Given the description of an element on the screen output the (x, y) to click on. 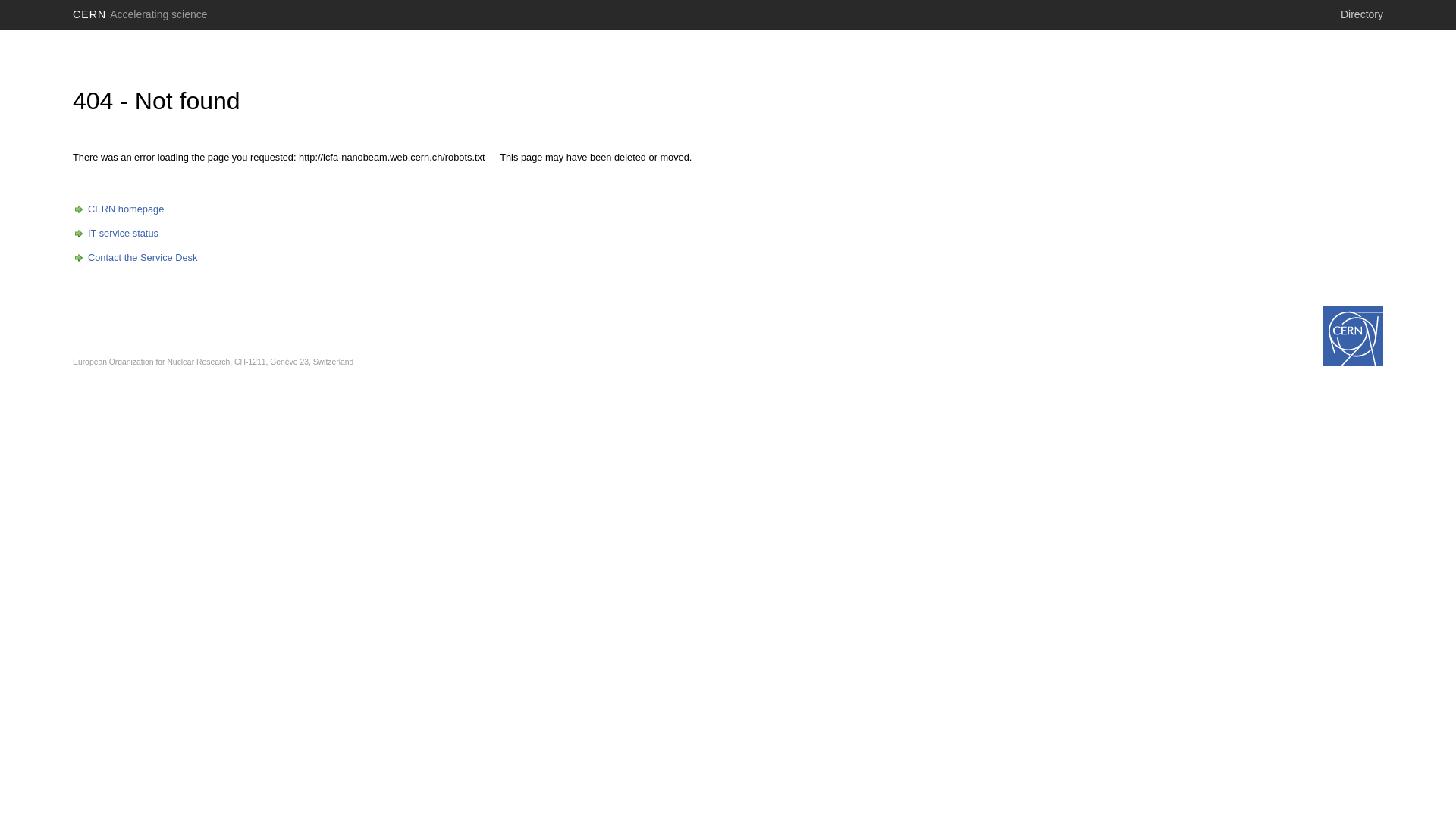
IT service status Element type: text (115, 232)
www.cern.ch Element type: hover (1352, 335)
Contact the Service Desk Element type: text (134, 257)
CERN Accelerating science Element type: text (139, 14)
Directory Element type: text (1361, 14)
CERN homepage Element type: text (117, 208)
